Given the description of an element on the screen output the (x, y) to click on. 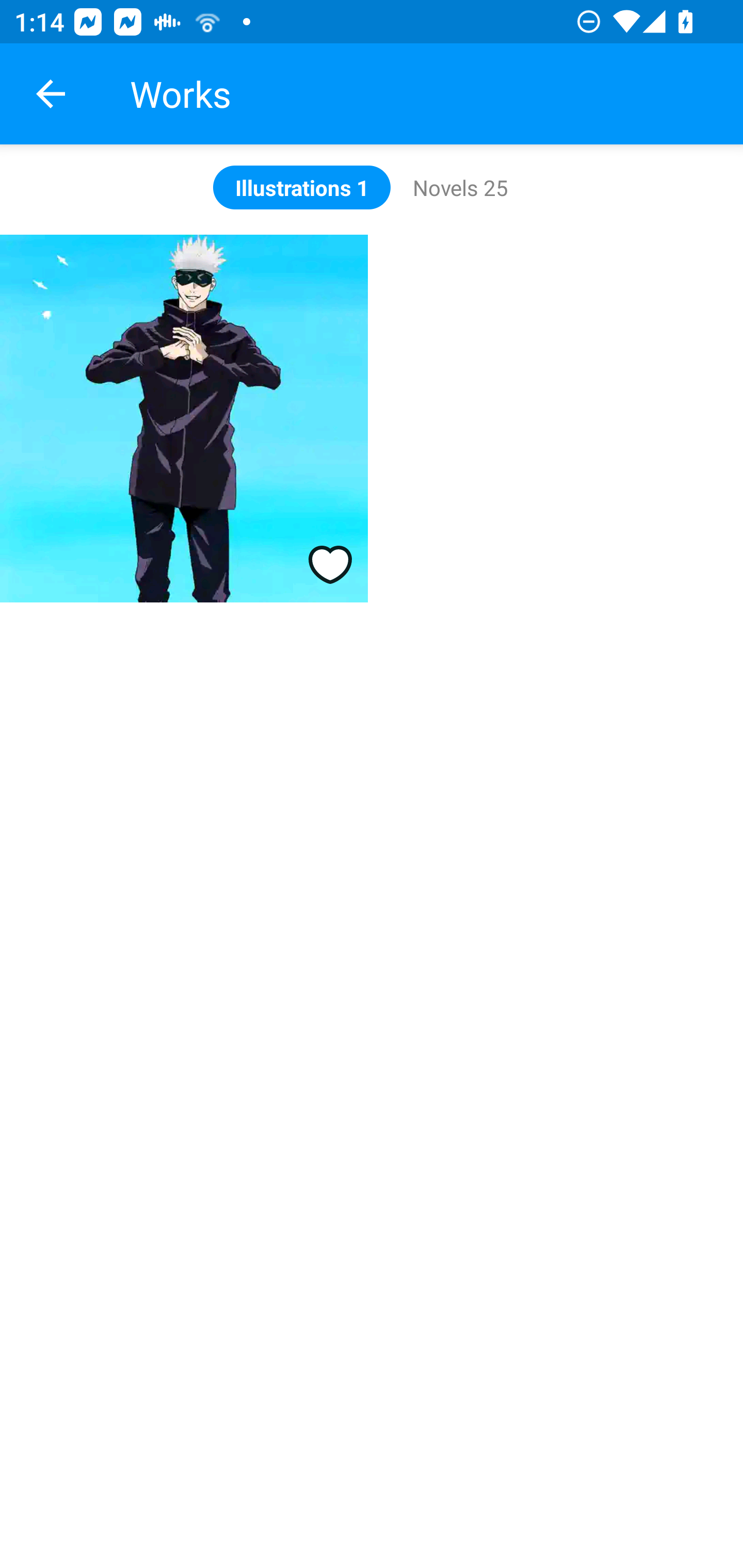
Navigate up (50, 93)
Illustrations 1 (301, 187)
Novels 25 (459, 187)
